Given the description of an element on the screen output the (x, y) to click on. 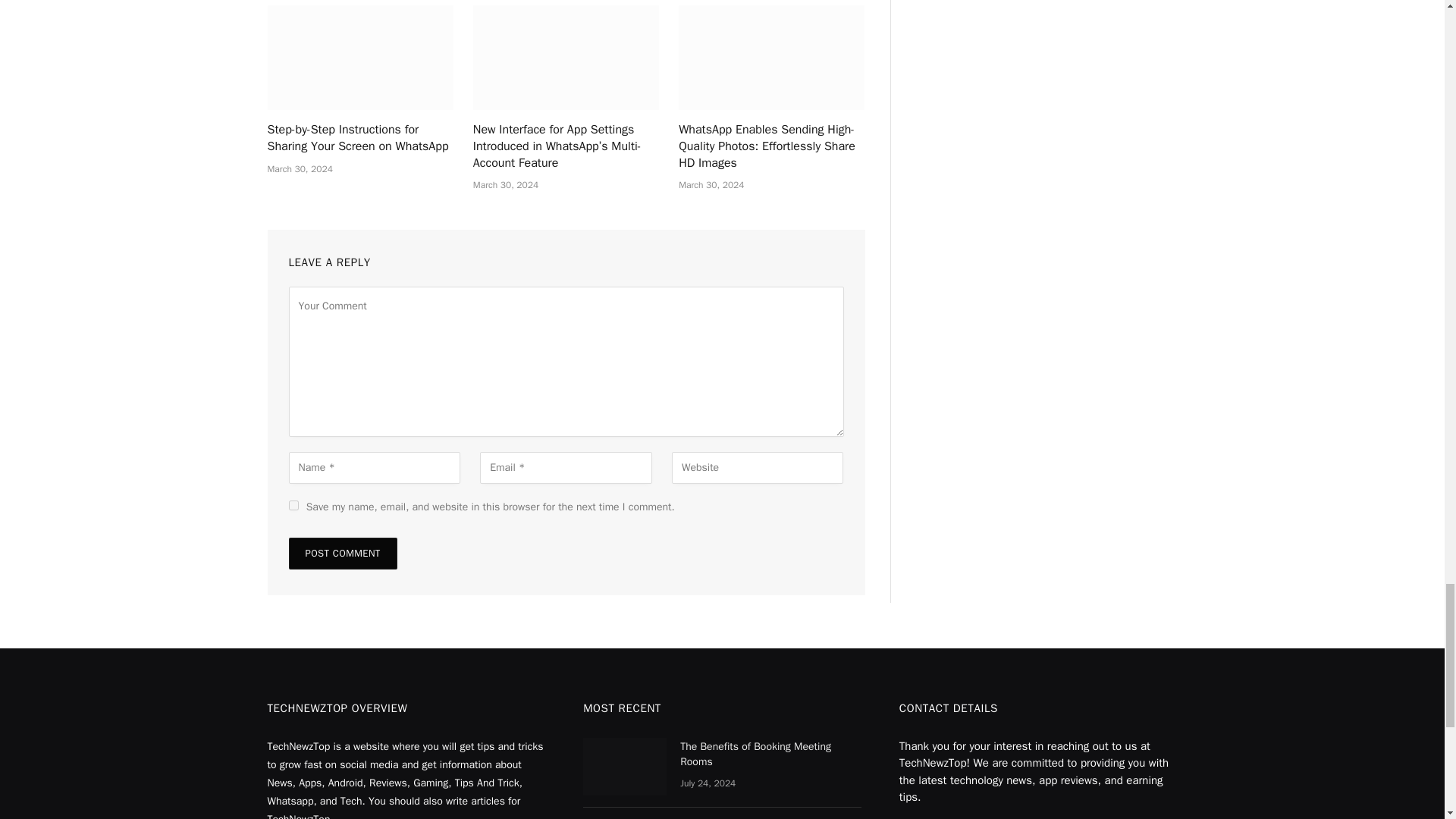
Post Comment (342, 553)
yes (293, 505)
